Given the description of an element on the screen output the (x, y) to click on. 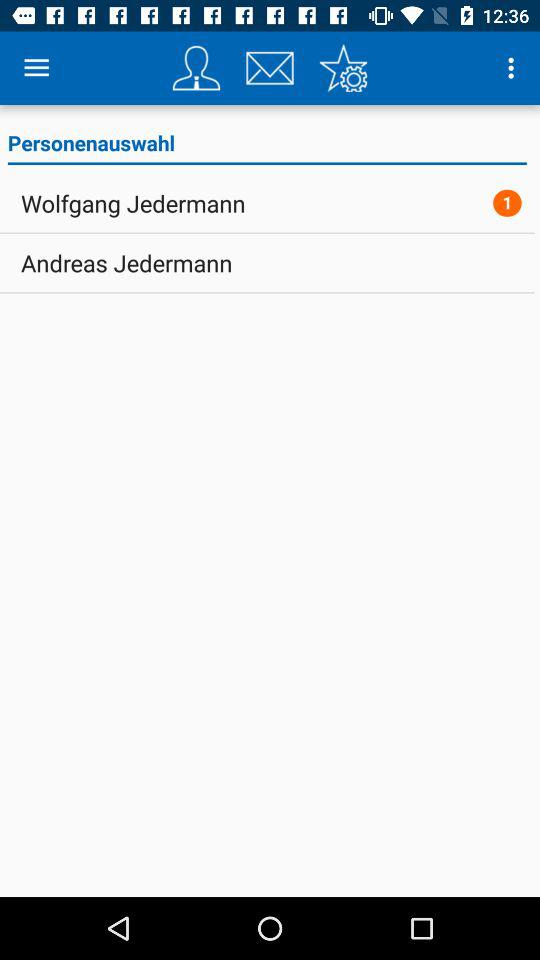
open the item above personenauswahl item (343, 67)
